Given the description of an element on the screen output the (x, y) to click on. 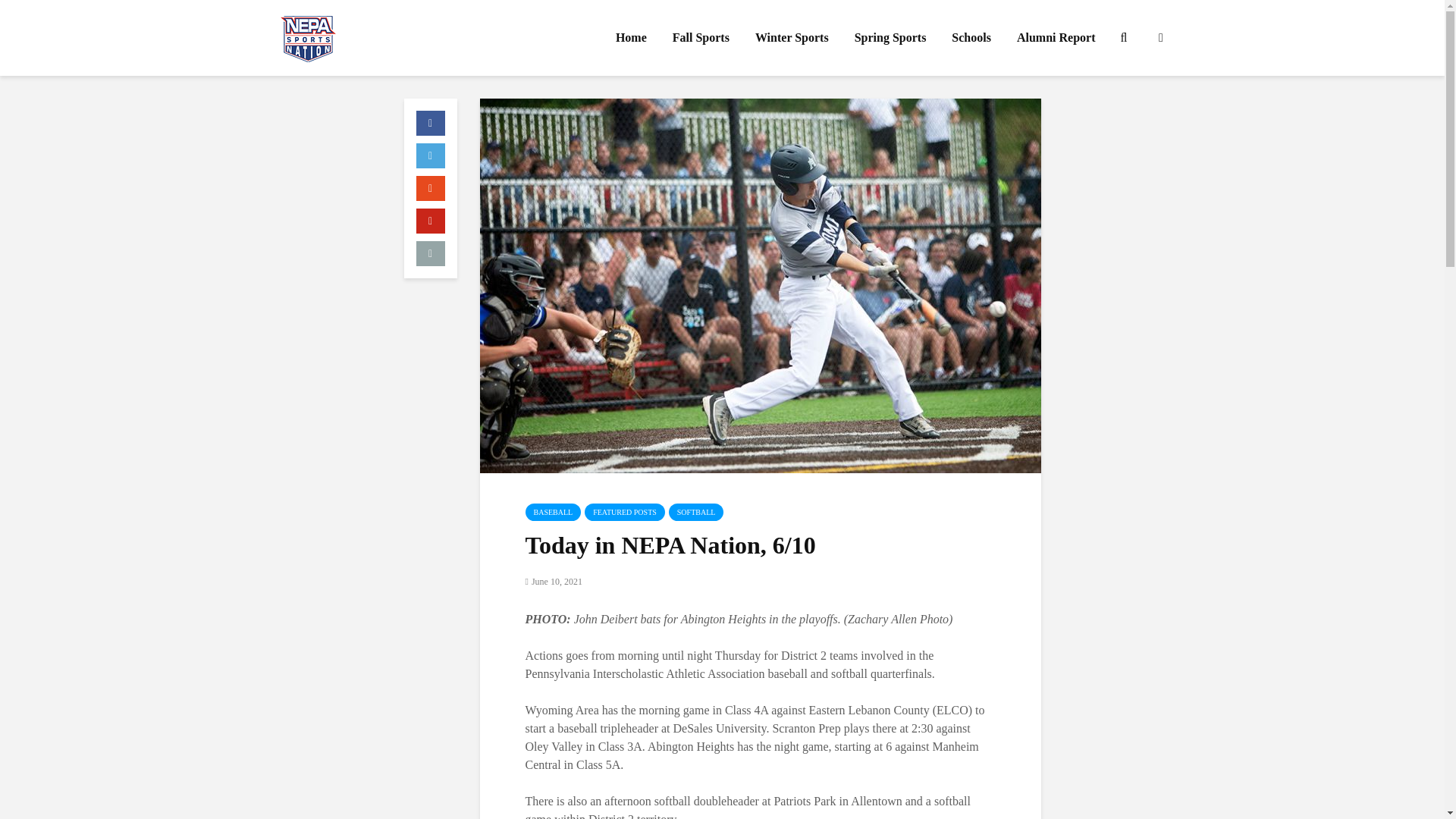
Winter Sports (792, 37)
Spring Sports (890, 37)
Schools (971, 37)
Fall Sports (701, 37)
Alumni Report (1056, 37)
Home (631, 37)
